Given the description of an element on the screen output the (x, y) to click on. 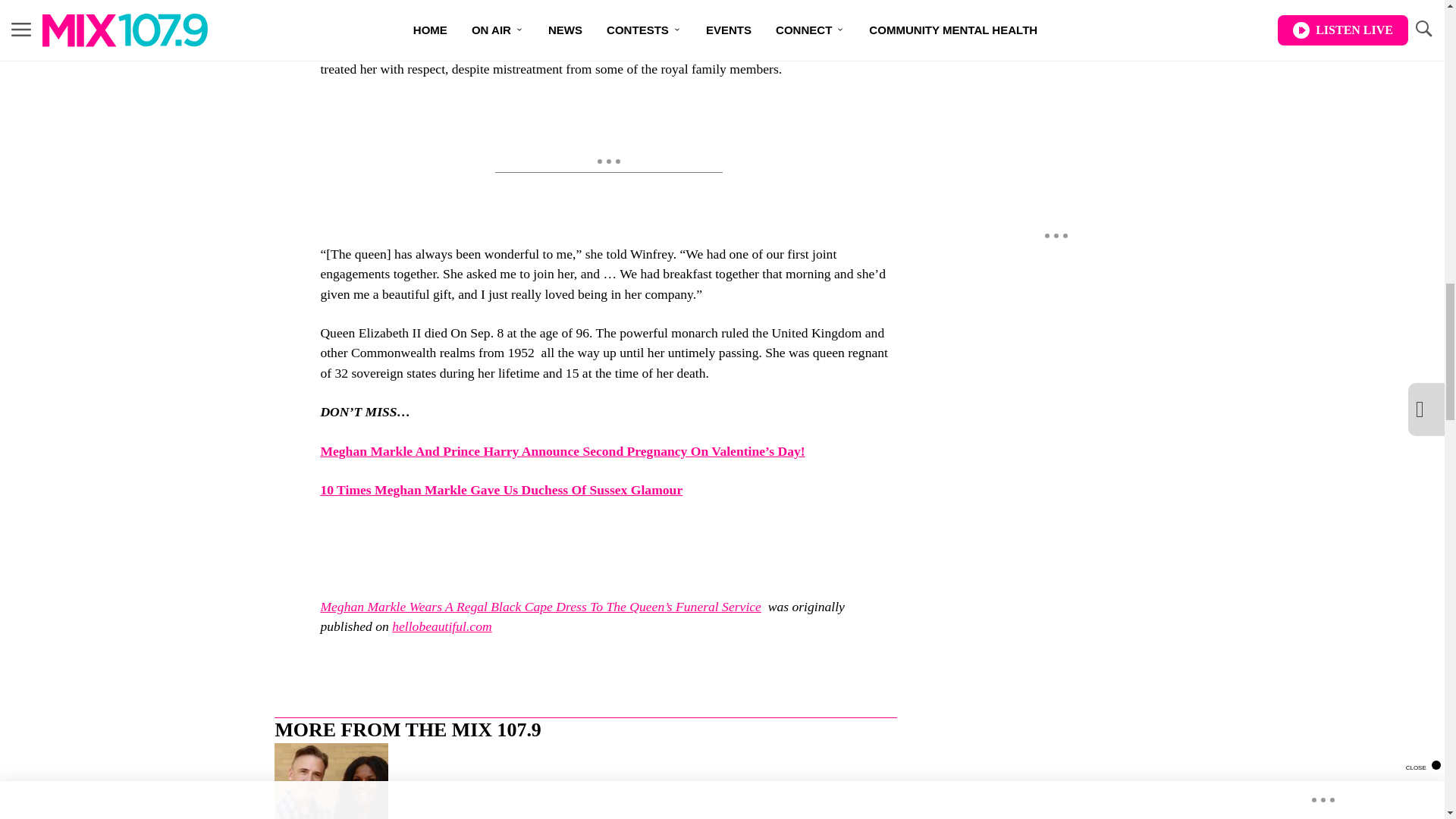
controversial interview with Oprah Winfrey (498, 48)
hellobeautiful.com (441, 626)
10 Times Meghan Markle Gave Us Duchess Of Sussex Glamour (501, 489)
